Given the description of an element on the screen output the (x, y) to click on. 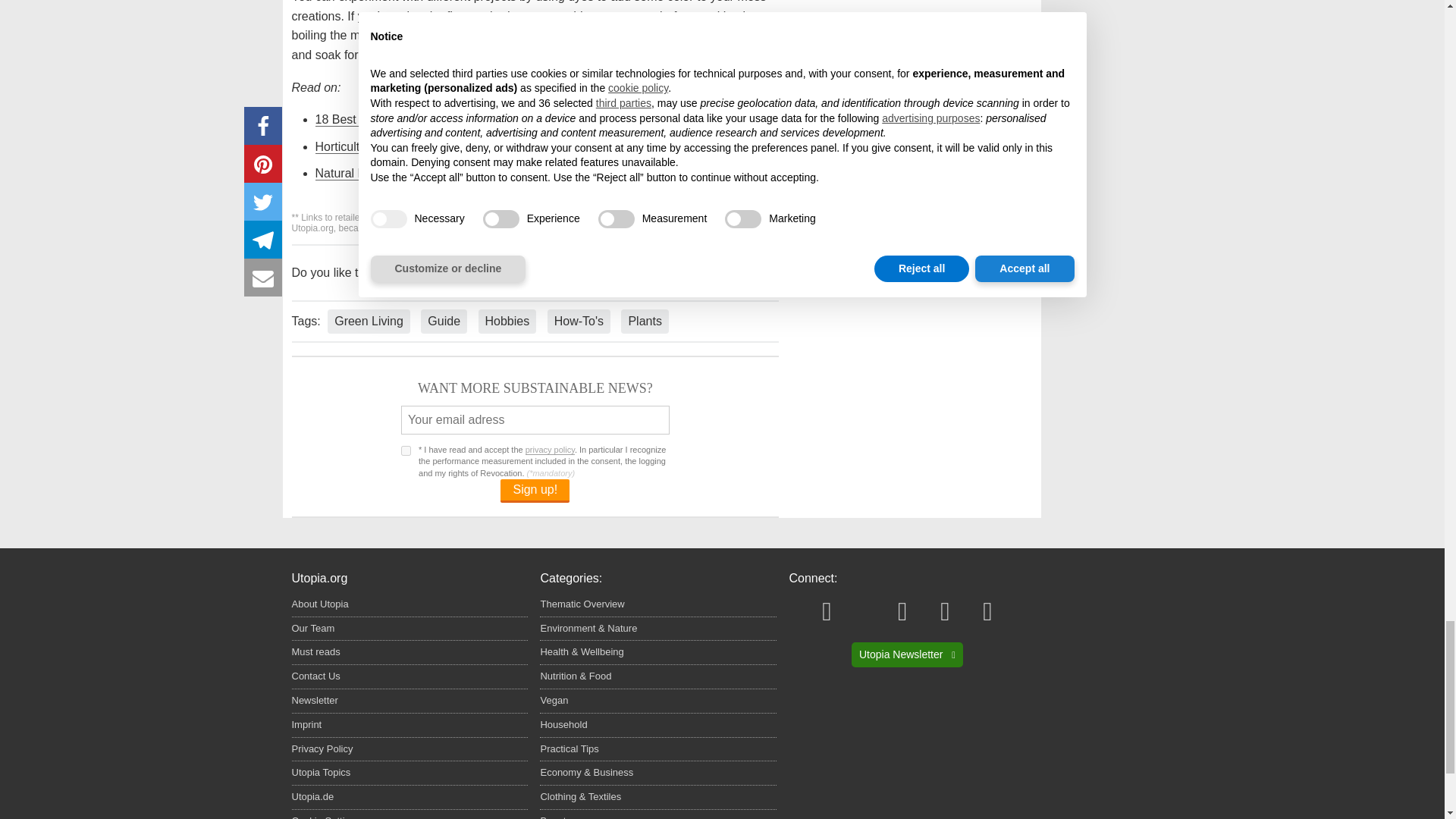
Sign up! (534, 490)
6f3f040e4e (405, 450)
